Given the description of an element on the screen output the (x, y) to click on. 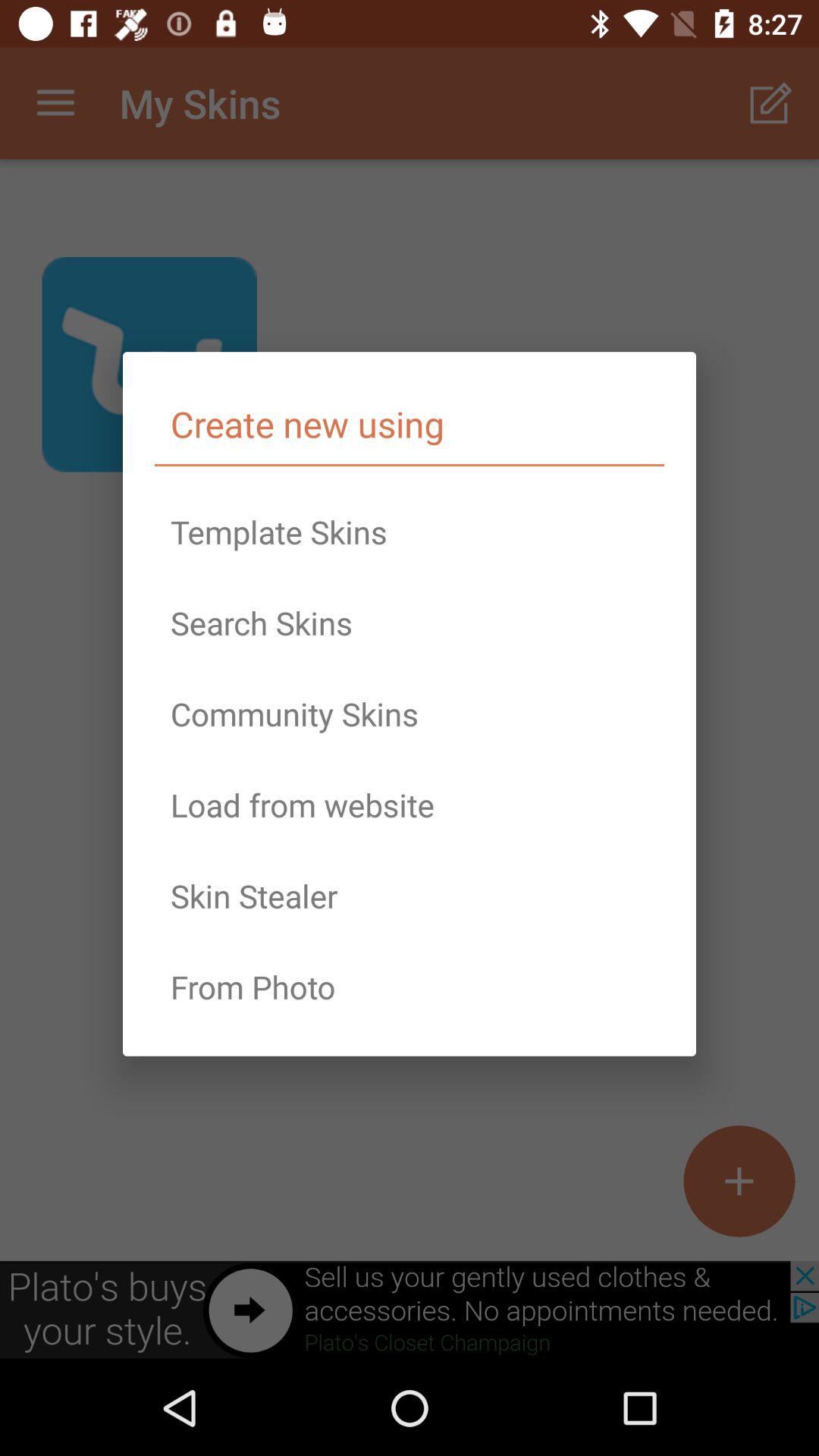
choose icon above from photo item (409, 895)
